Given the description of an element on the screen output the (x, y) to click on. 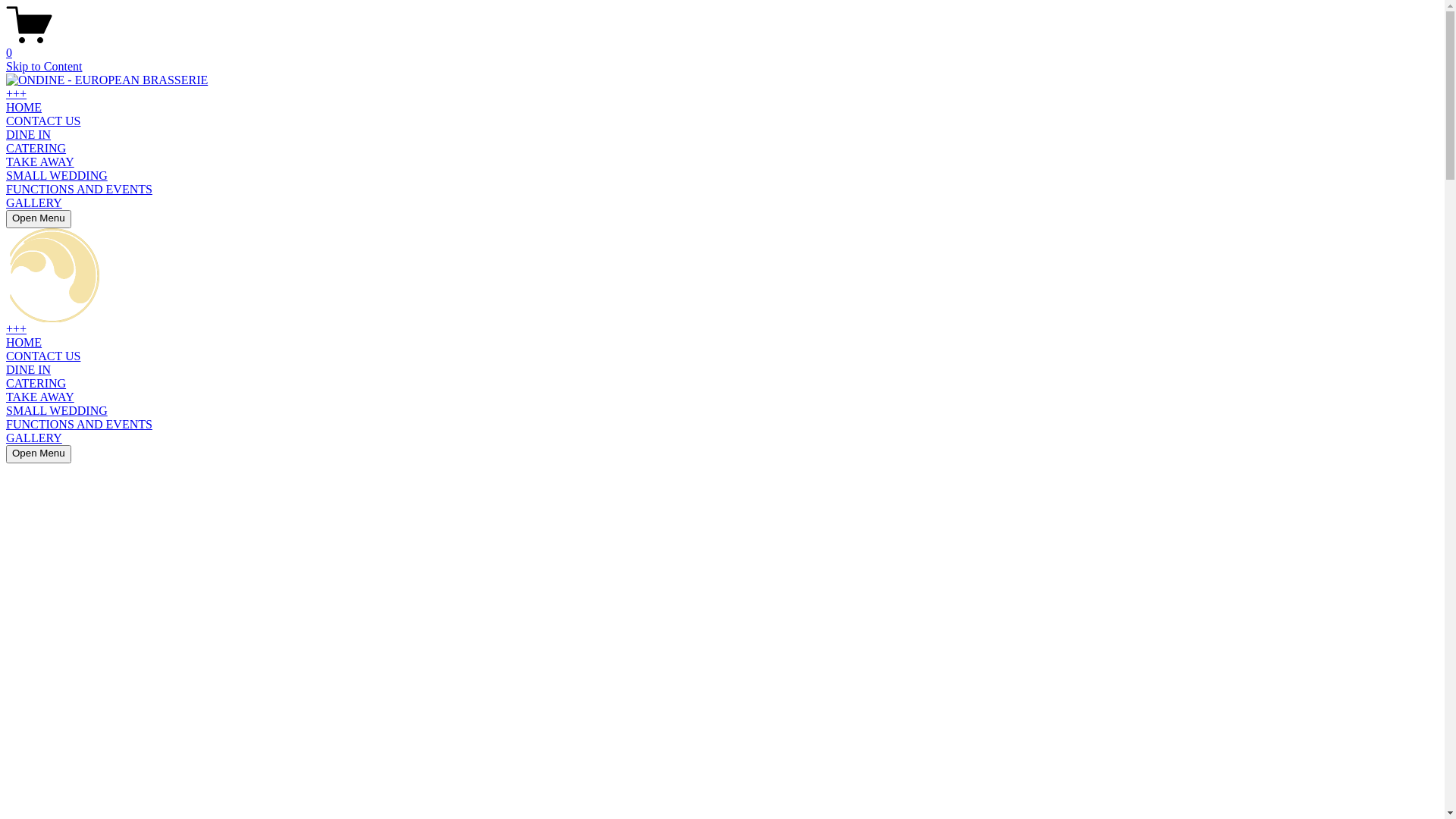
SMALL WEDDING Element type: text (56, 175)
CONTACT US Element type: text (43, 355)
DINE IN Element type: text (28, 369)
TAKE AWAY Element type: text (40, 396)
0 Element type: text (722, 45)
HOME Element type: text (23, 106)
HOME Element type: text (23, 341)
+++ Element type: text (16, 93)
Skip to Content Element type: text (43, 65)
+++ Element type: text (16, 328)
GALLERY Element type: text (34, 202)
CATERING Element type: text (35, 147)
FUNCTIONS AND EVENTS Element type: text (79, 423)
TAKE AWAY Element type: text (40, 161)
Open Menu Element type: text (38, 454)
GALLERY Element type: text (34, 437)
SMALL WEDDING Element type: text (56, 410)
DINE IN Element type: text (28, 134)
CATERING Element type: text (35, 382)
FUNCTIONS AND EVENTS Element type: text (79, 188)
Open Menu Element type: text (38, 219)
CONTACT US Element type: text (43, 120)
